Given the description of an element on the screen output the (x, y) to click on. 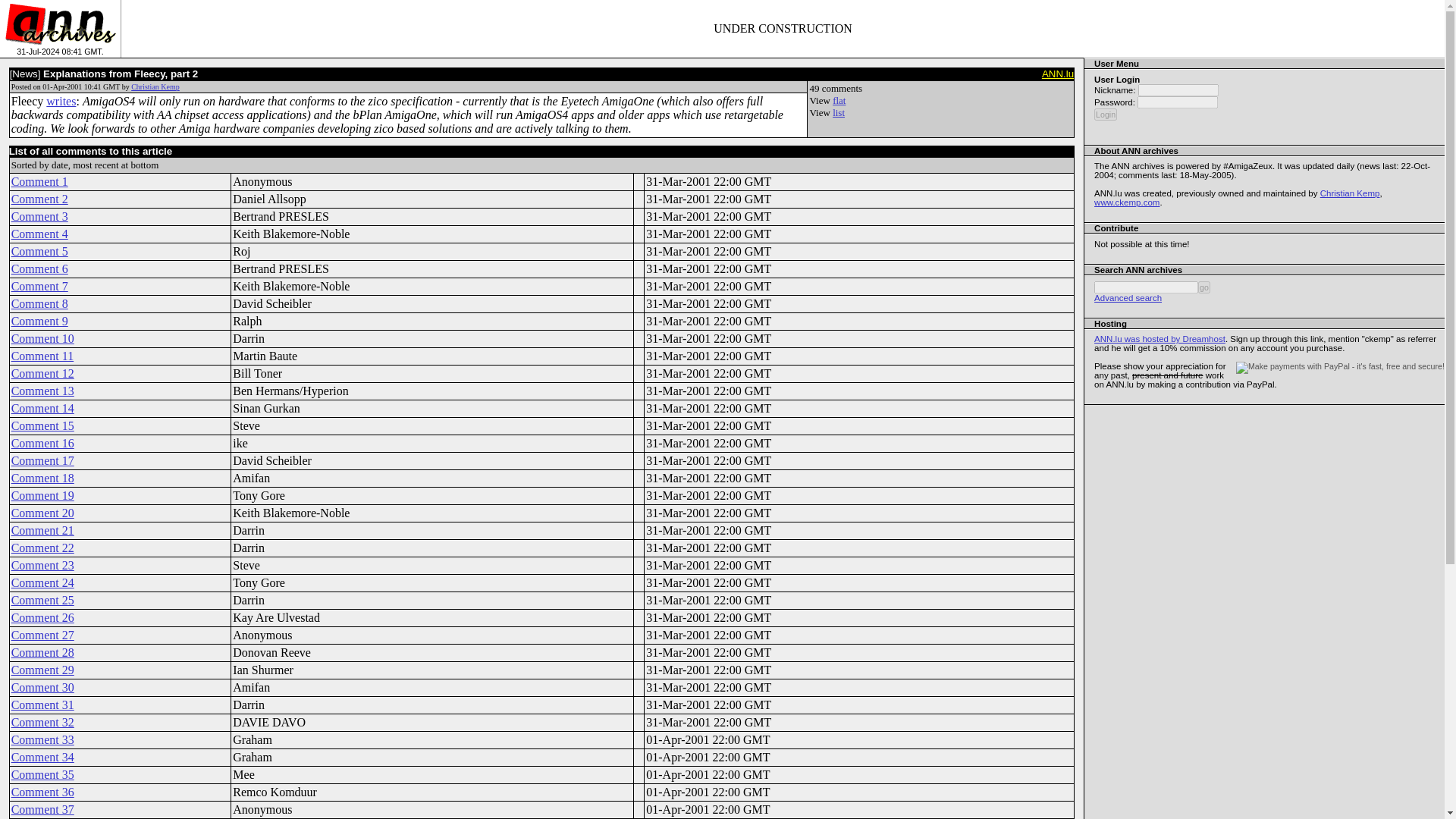
ANN.lu (1058, 72)
Comment 2 (39, 198)
Comment 9 (39, 320)
Comment 30 (42, 686)
Comment 12 (42, 373)
Comment 27 (42, 634)
Comment 26 (42, 617)
list (838, 112)
Comment 29 (42, 669)
Comment 20 (42, 512)
Comment 23 (42, 564)
Comment 15 (42, 425)
Comment 8 (39, 303)
Comment 19 (42, 495)
go (1203, 287)
